Given the description of an element on the screen output the (x, y) to click on. 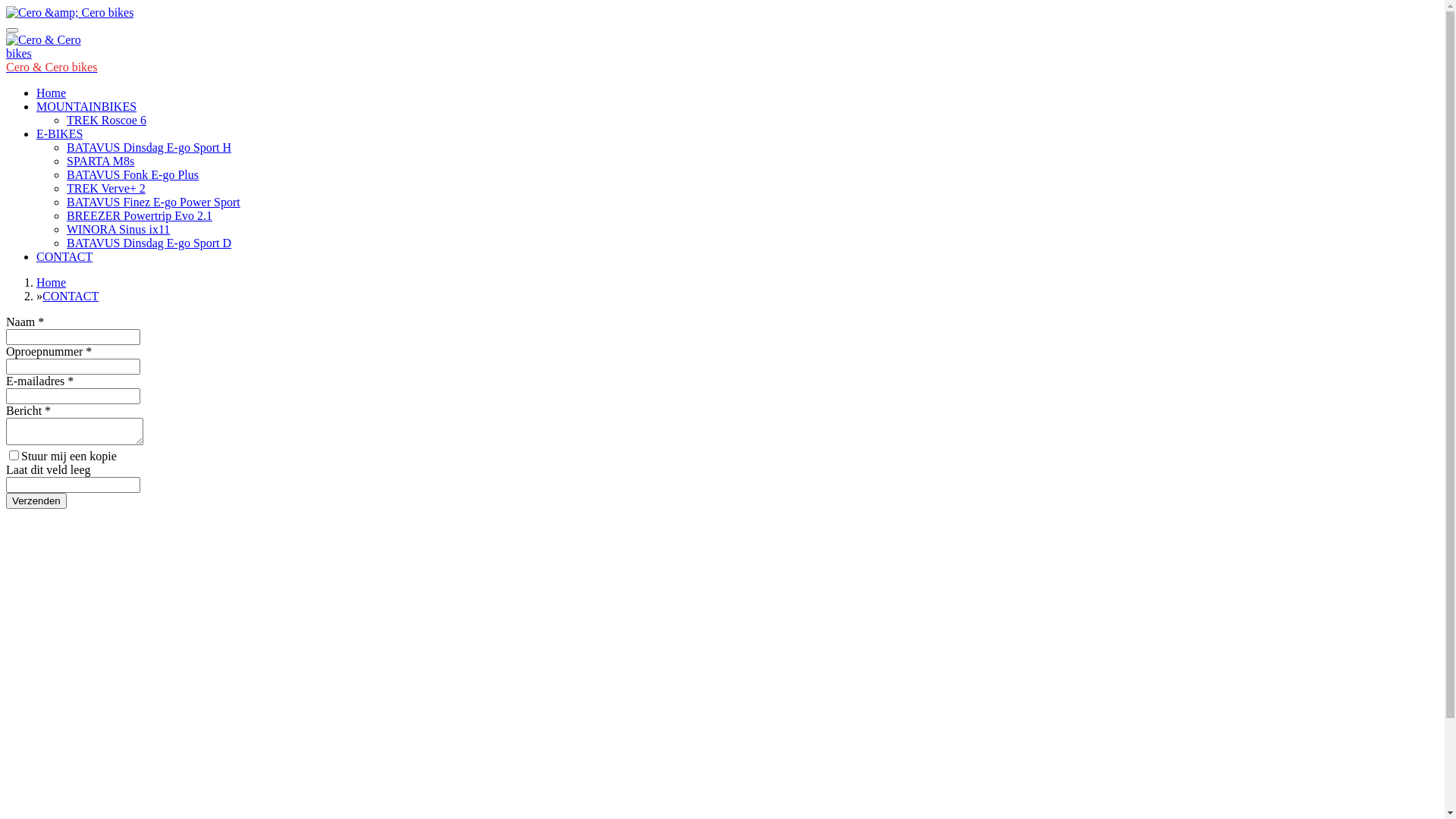
Cero & Cero bikes Element type: text (51, 66)
BREEZER Powertrip Evo 2.1 Element type: text (139, 215)
info@cerobikes.be Element type: text (51, 754)
E-BIKES Element type: text (59, 133)
MOUNTAINBIKES Element type: text (86, 106)
BATAVUS Fonk E-go Plus Element type: text (132, 174)
BATAVUS Dinsdag E-go Sport D Element type: text (148, 242)
WINORA Sinus ix11 Element type: text (117, 228)
TREK Verve+ 2 Element type: text (105, 188)
BATAVUS Finez E-go Power Sport Element type: text (153, 201)
SPARTA M8s Element type: text (100, 160)
CONTACT Element type: text (64, 256)
Cero & Cero bikes Element type: hover (43, 46)
Cero &amp; Cero bikes Element type: hover (69, 12)
TREK Roscoe 6 Element type: text (106, 119)
Home Element type: text (50, 282)
BATAVUS Dinsdag E-go Sport H Element type: text (148, 147)
CONTACT Element type: text (70, 295)
Verzenden Element type: text (36, 500)
Home Element type: text (50, 92)
